Given the description of an element on the screen output the (x, y) to click on. 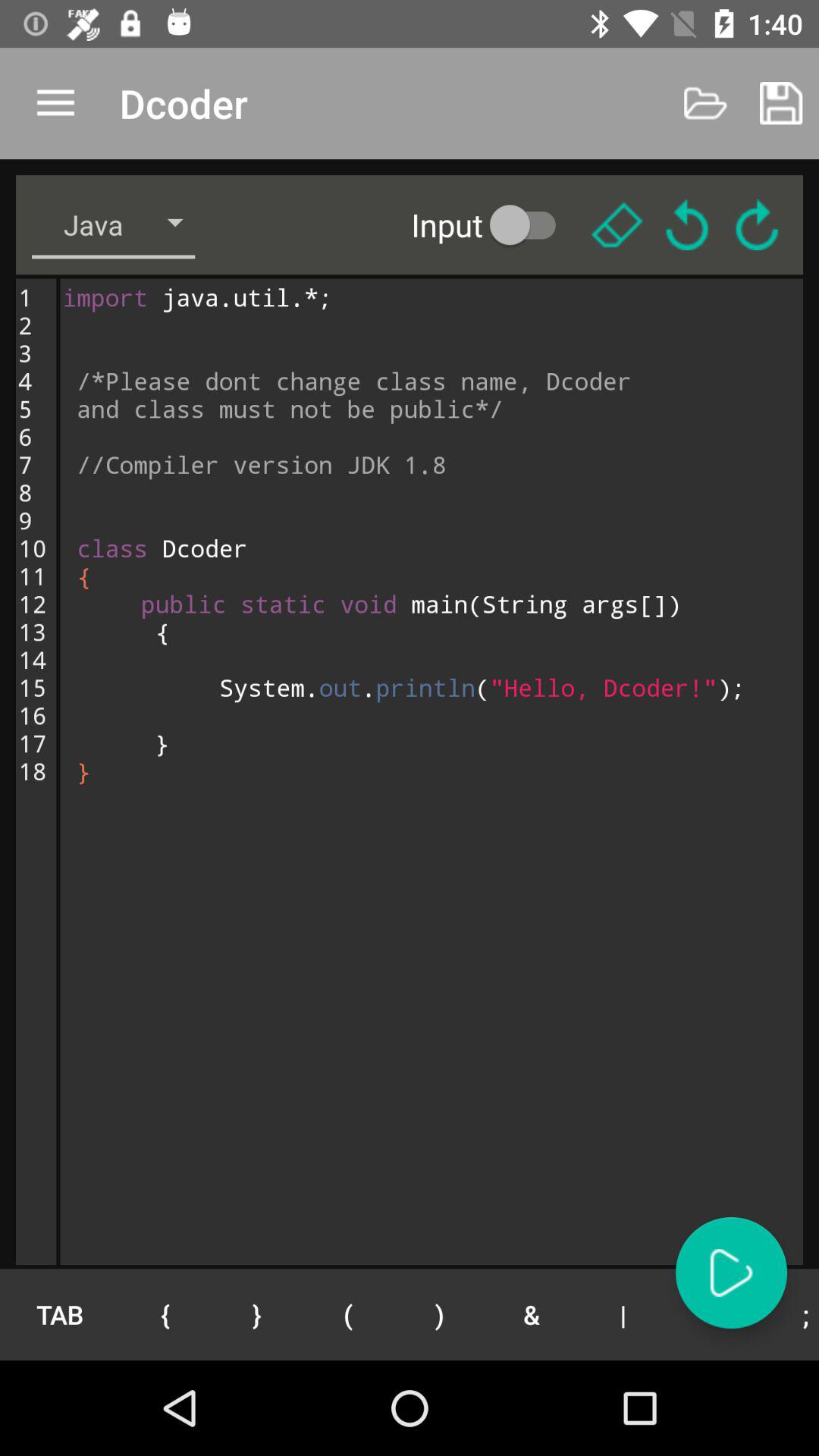
click on input to the right of java (494, 224)
